Given the description of an element on the screen output the (x, y) to click on. 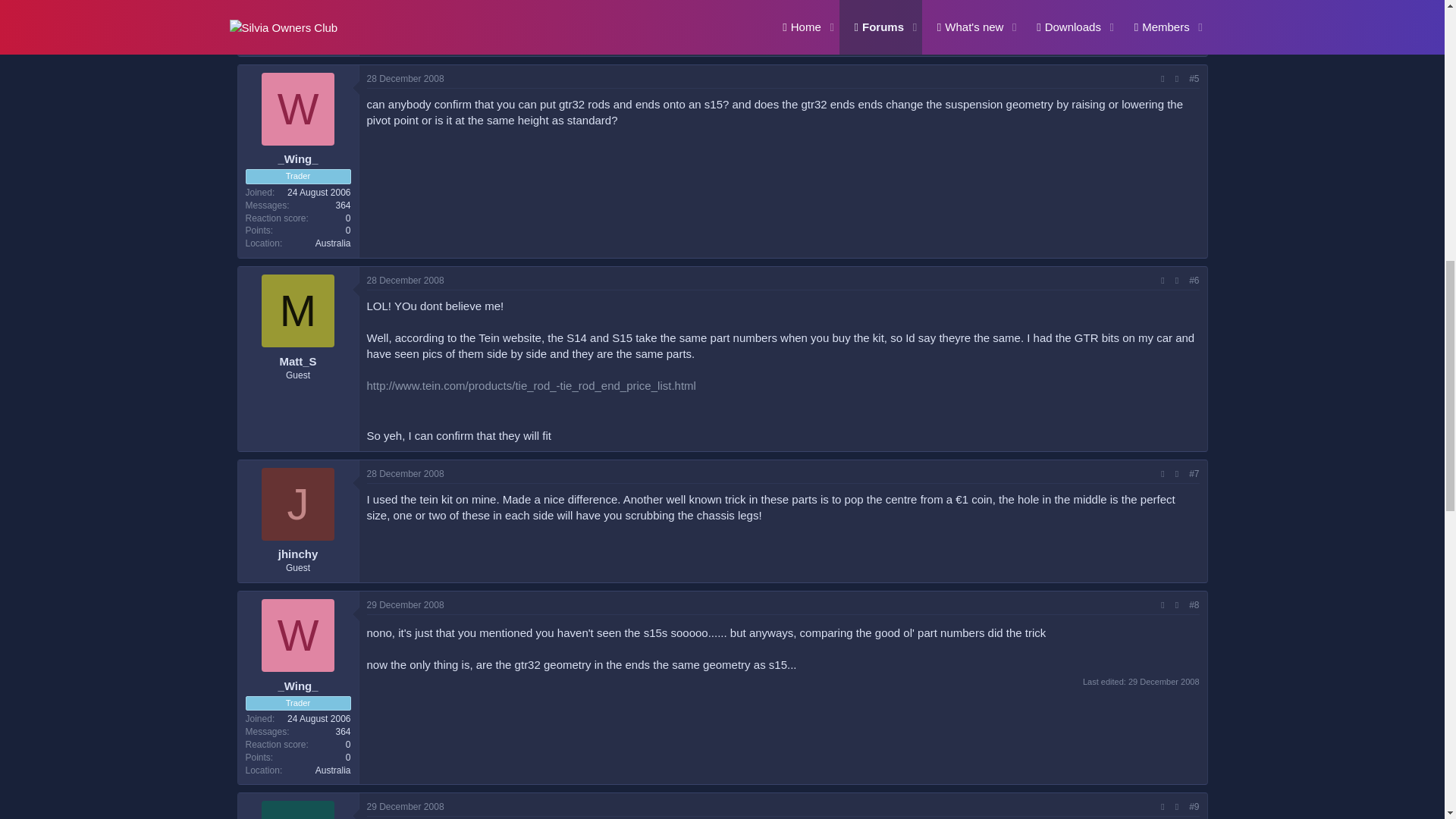
Big grin    :D (411, 38)
29 December 2008 at 4:43 AM (405, 604)
28 December 2008 at 1:32 PM (405, 78)
28 December 2008 at 2:18 PM (405, 280)
28 December 2008 at 9:43 PM (405, 473)
